Given the description of an element on the screen output the (x, y) to click on. 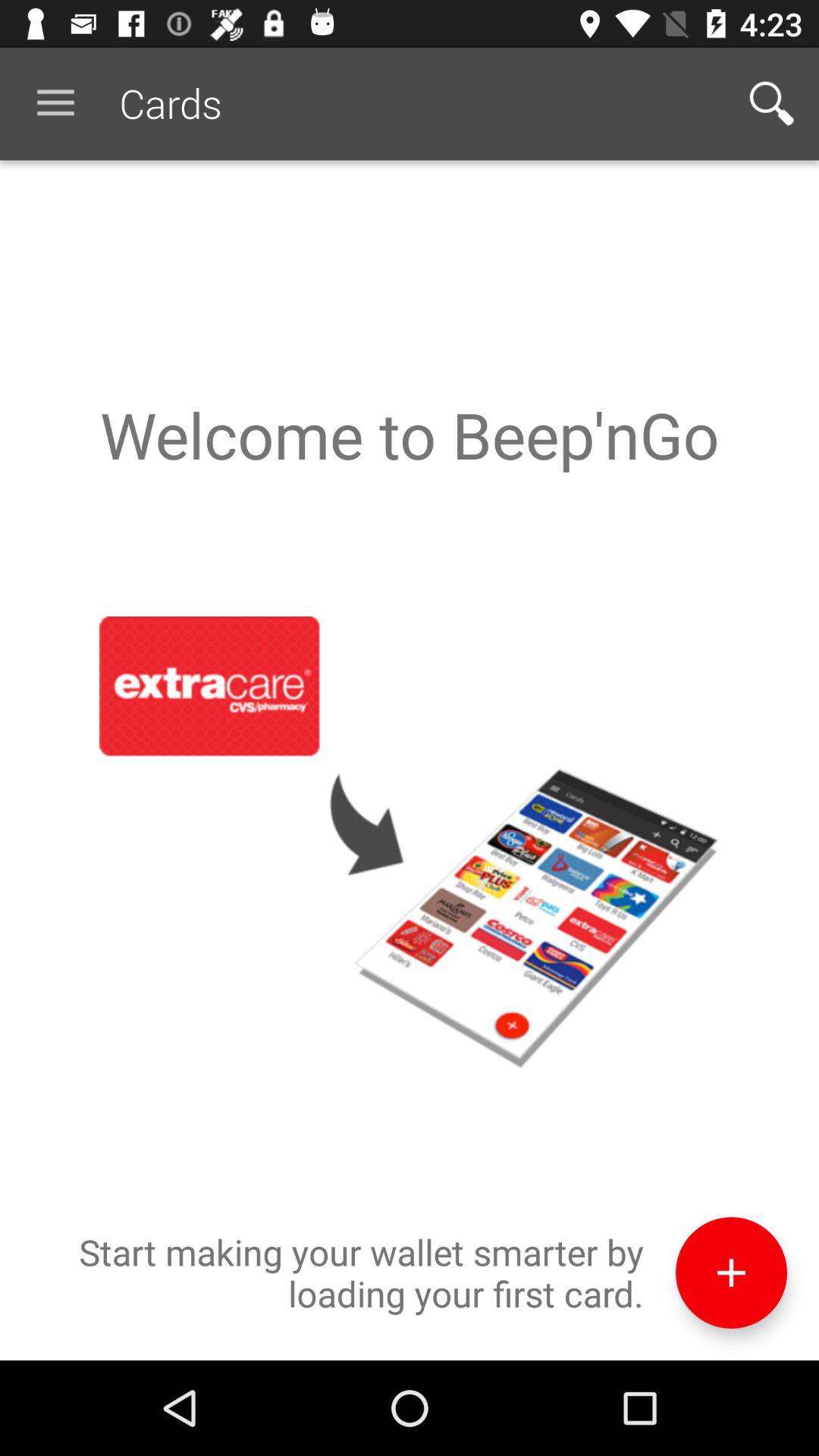
press icon at the top right corner (771, 103)
